Given the description of an element on the screen output the (x, y) to click on. 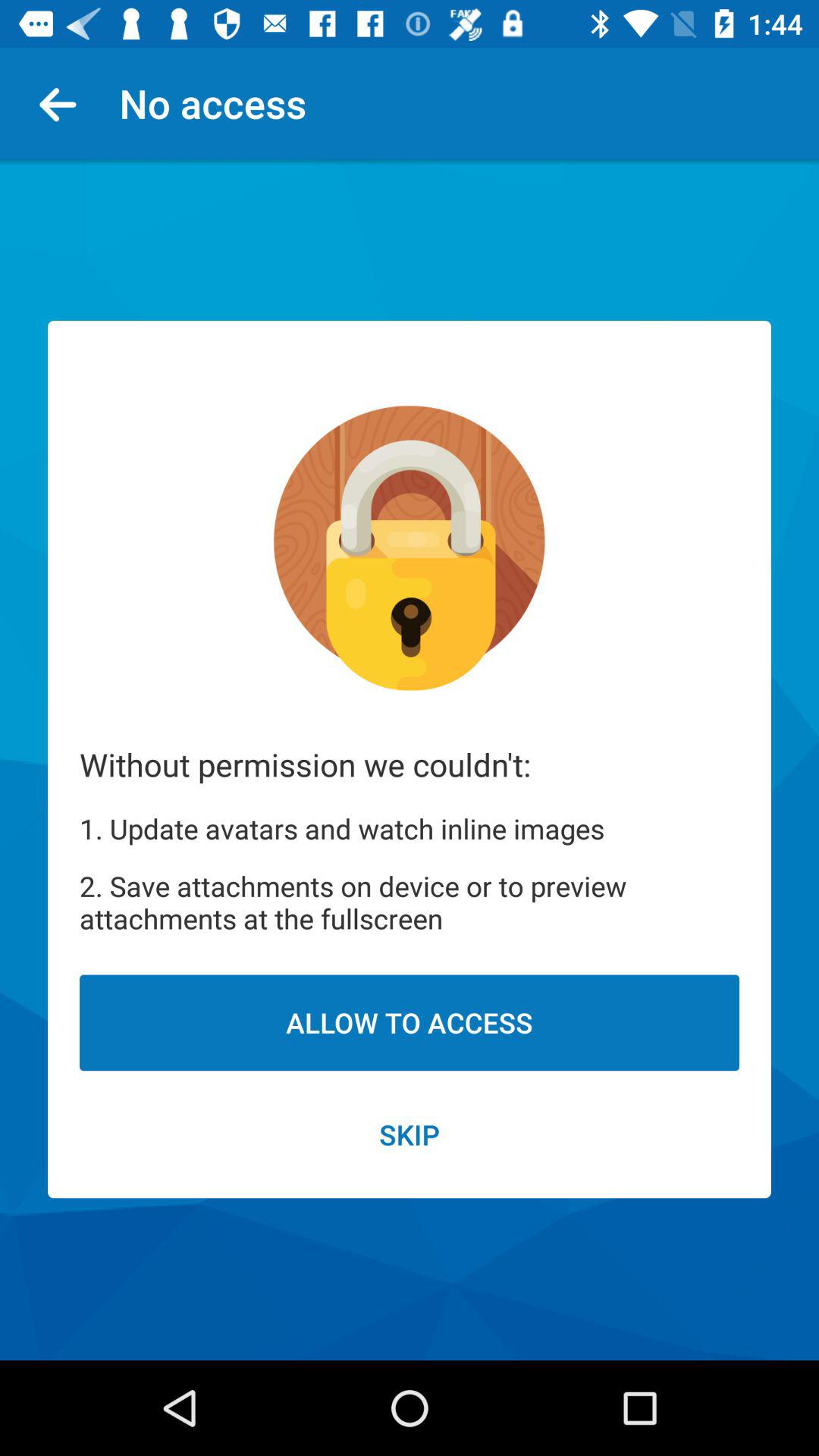
click the allow to access icon (409, 1022)
